Given the description of an element on the screen output the (x, y) to click on. 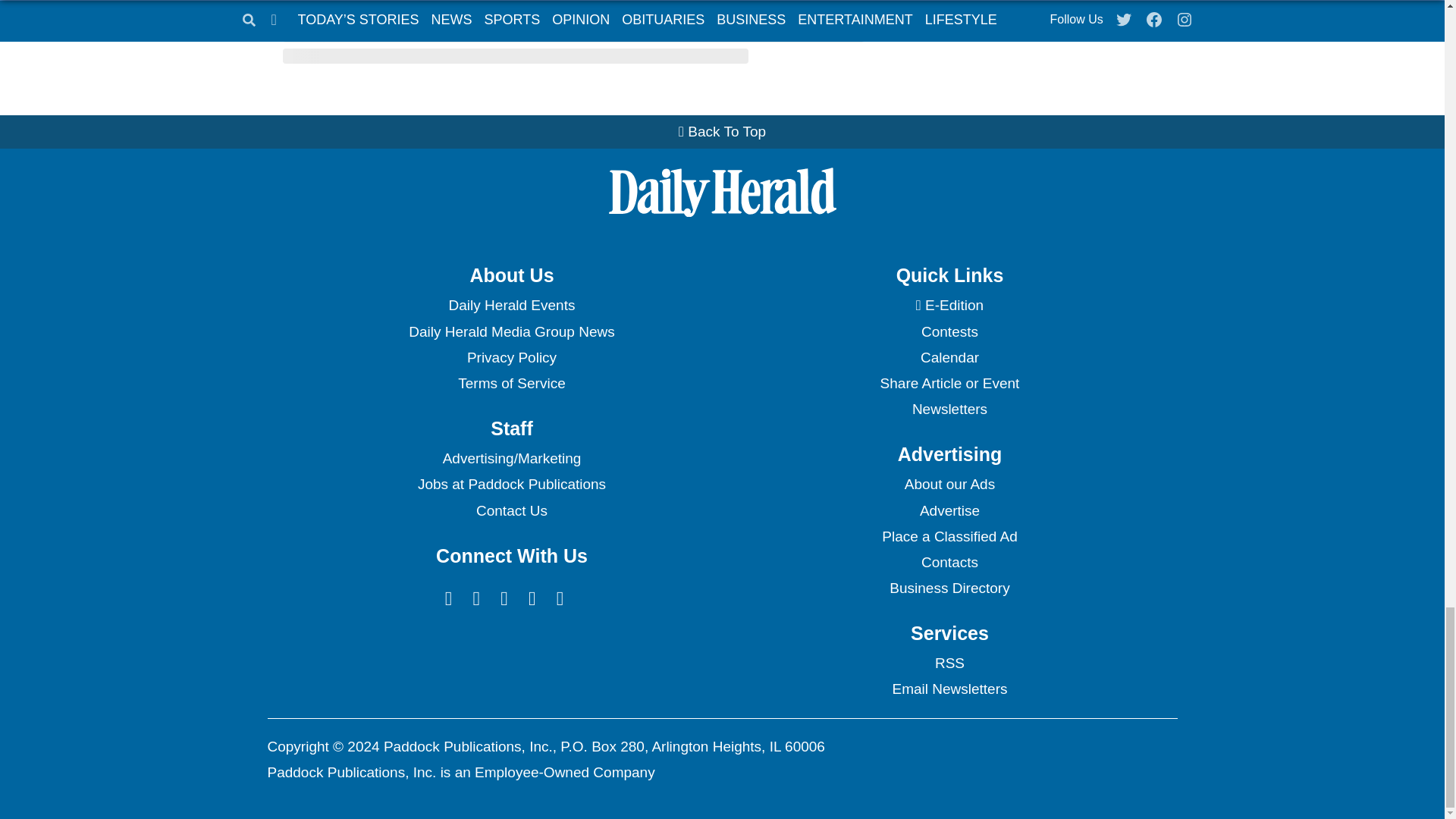
Jobs at Paddock Publications (511, 484)
Privacy Policy (511, 357)
Daily Herald Media Group News (511, 331)
Daily Herald Events (511, 305)
Contact Us (511, 510)
Terms of Service (511, 383)
Daily Herald Digital Newspaper (949, 305)
